Given the description of an element on the screen output the (x, y) to click on. 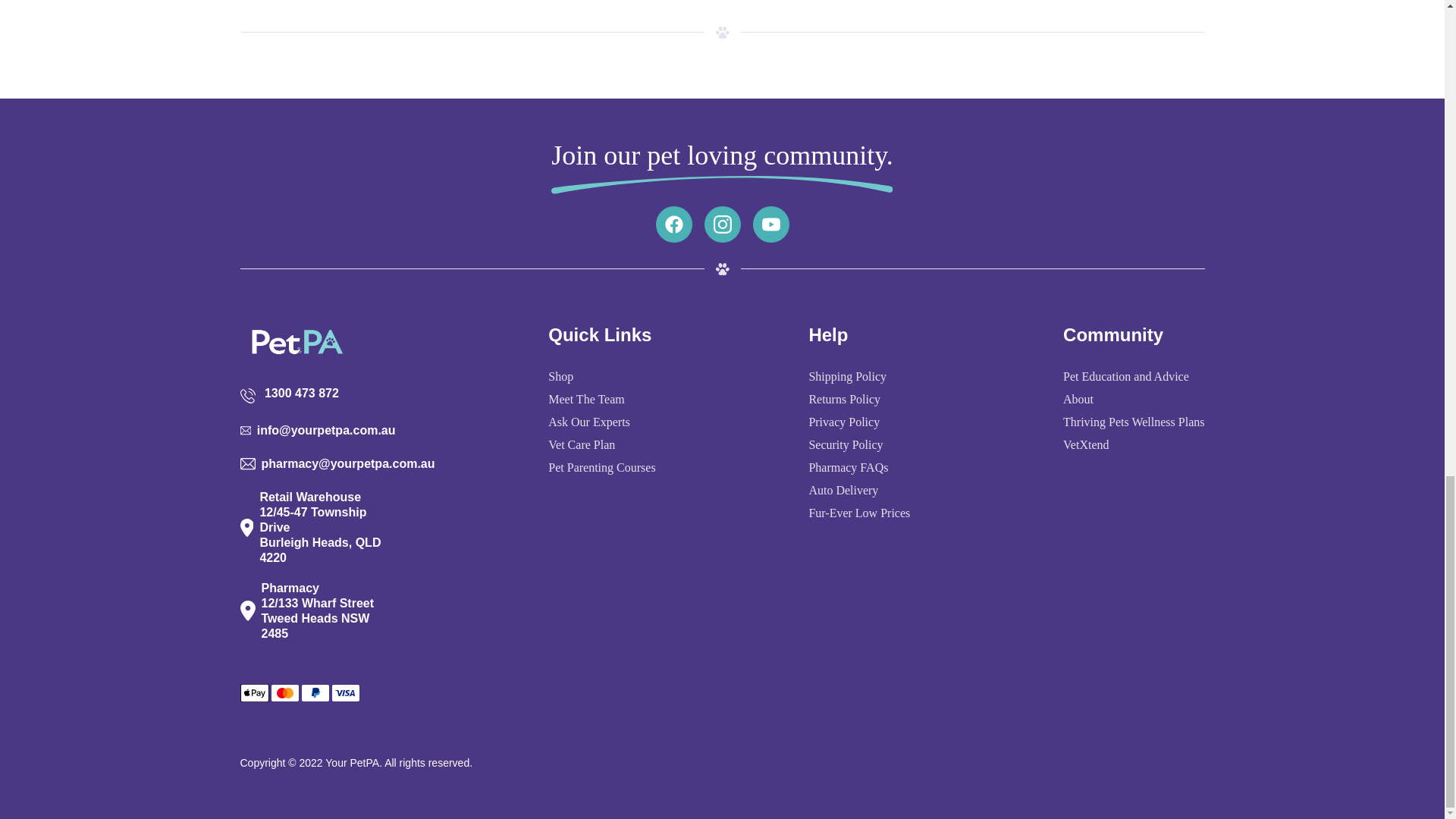
Your PetPA (351, 762)
7A7916A5-A2E1-4B8A-82E1-C387333B4BC9 (722, 32)
7A7916A5-A2E1-4B8A-82E1-C387333B4BC9 (722, 268)
